Given the description of an element on the screen output the (x, y) to click on. 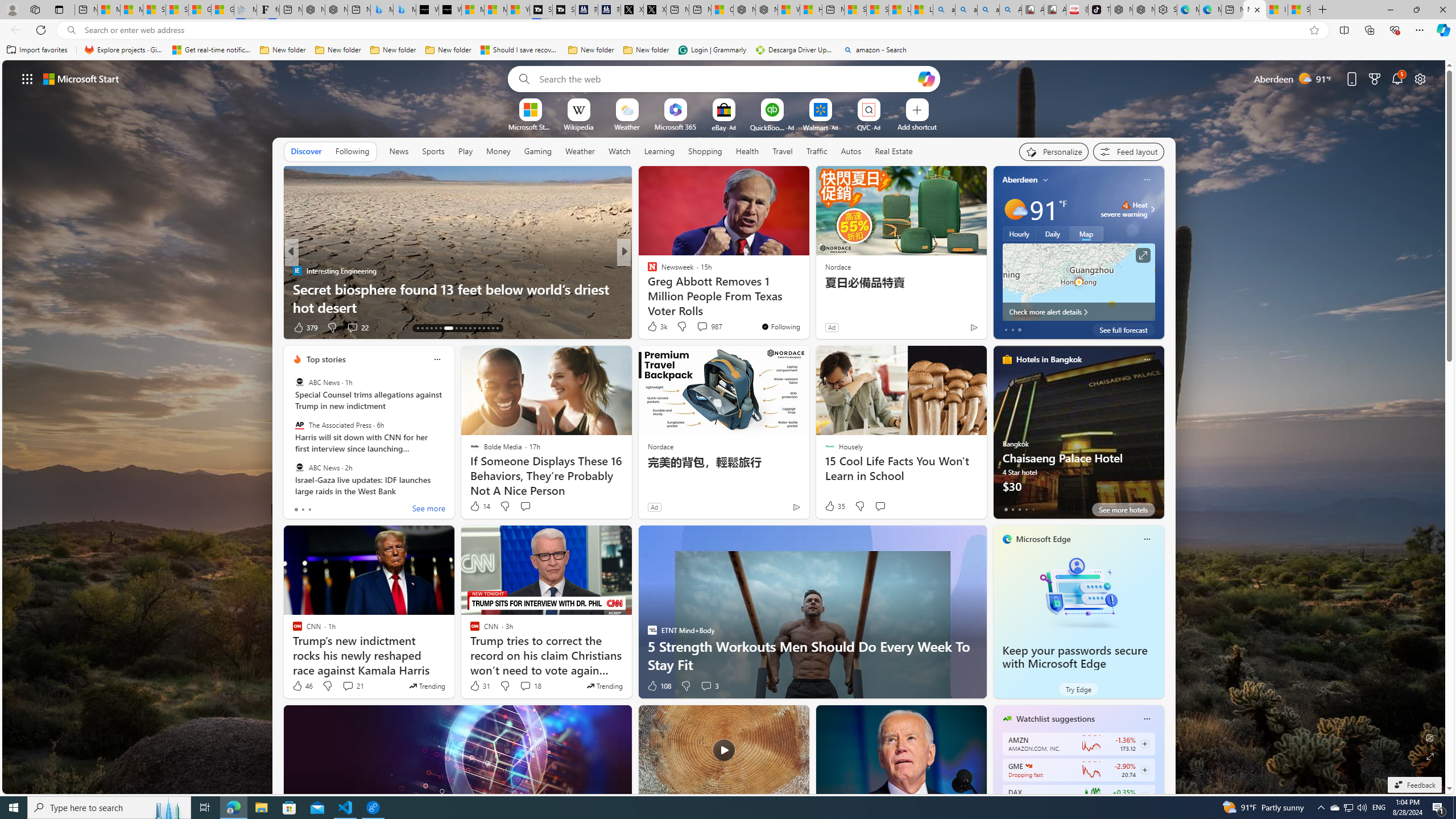
Microsoft Edge (1043, 538)
You're following Newsweek (780, 326)
Favorites bar (728, 49)
View comments 21 Comment (352, 685)
Wikipedia (578, 126)
PsychLove (647, 270)
